Given the description of an element on the screen output the (x, y) to click on. 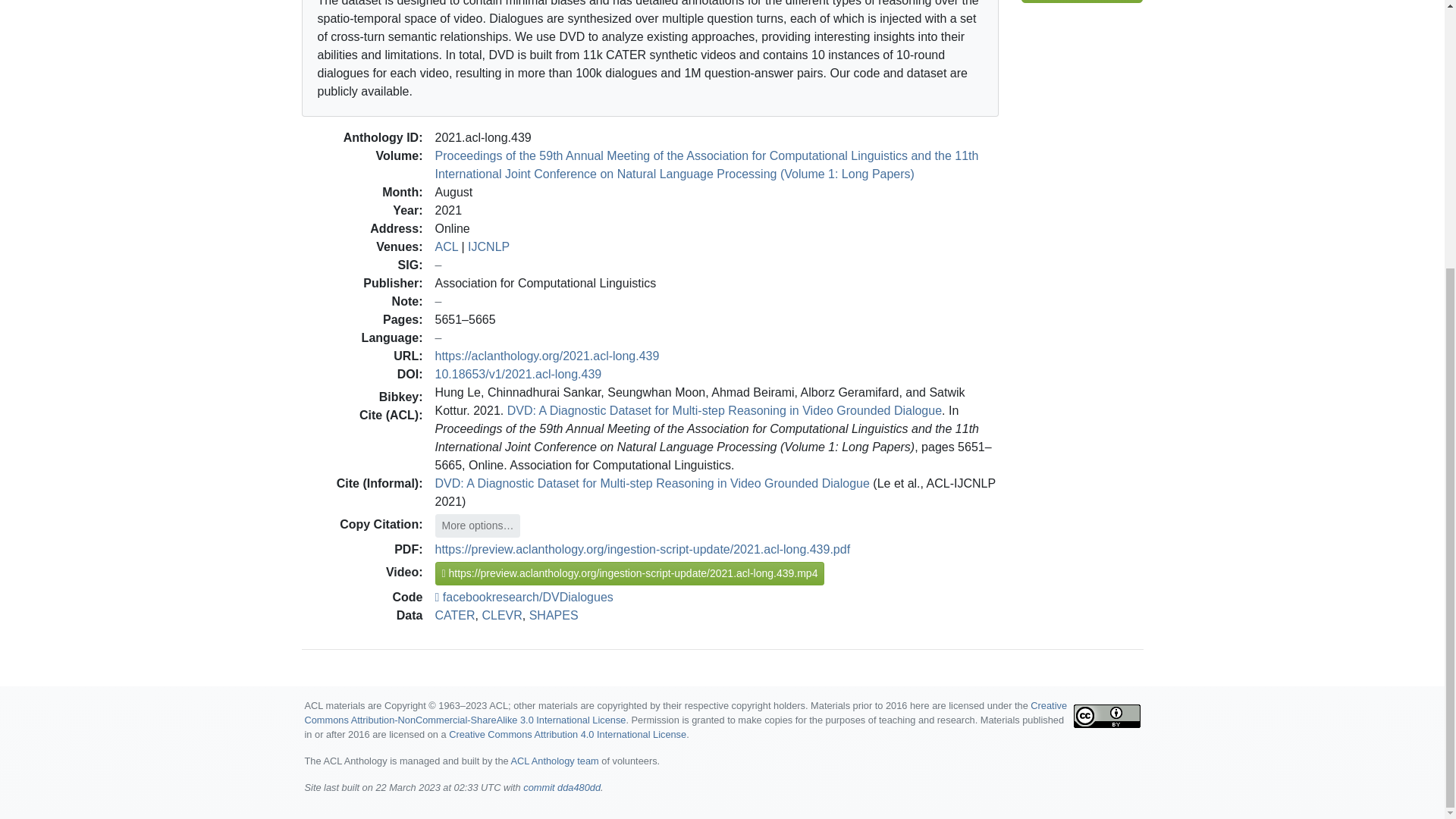
Video (1082, 1)
CATER (455, 614)
CLEVR (501, 614)
SHAPES (553, 614)
To the current version of the paper by DOI (518, 373)
ACL (446, 245)
IJCNLP (488, 245)
